Given the description of an element on the screen output the (x, y) to click on. 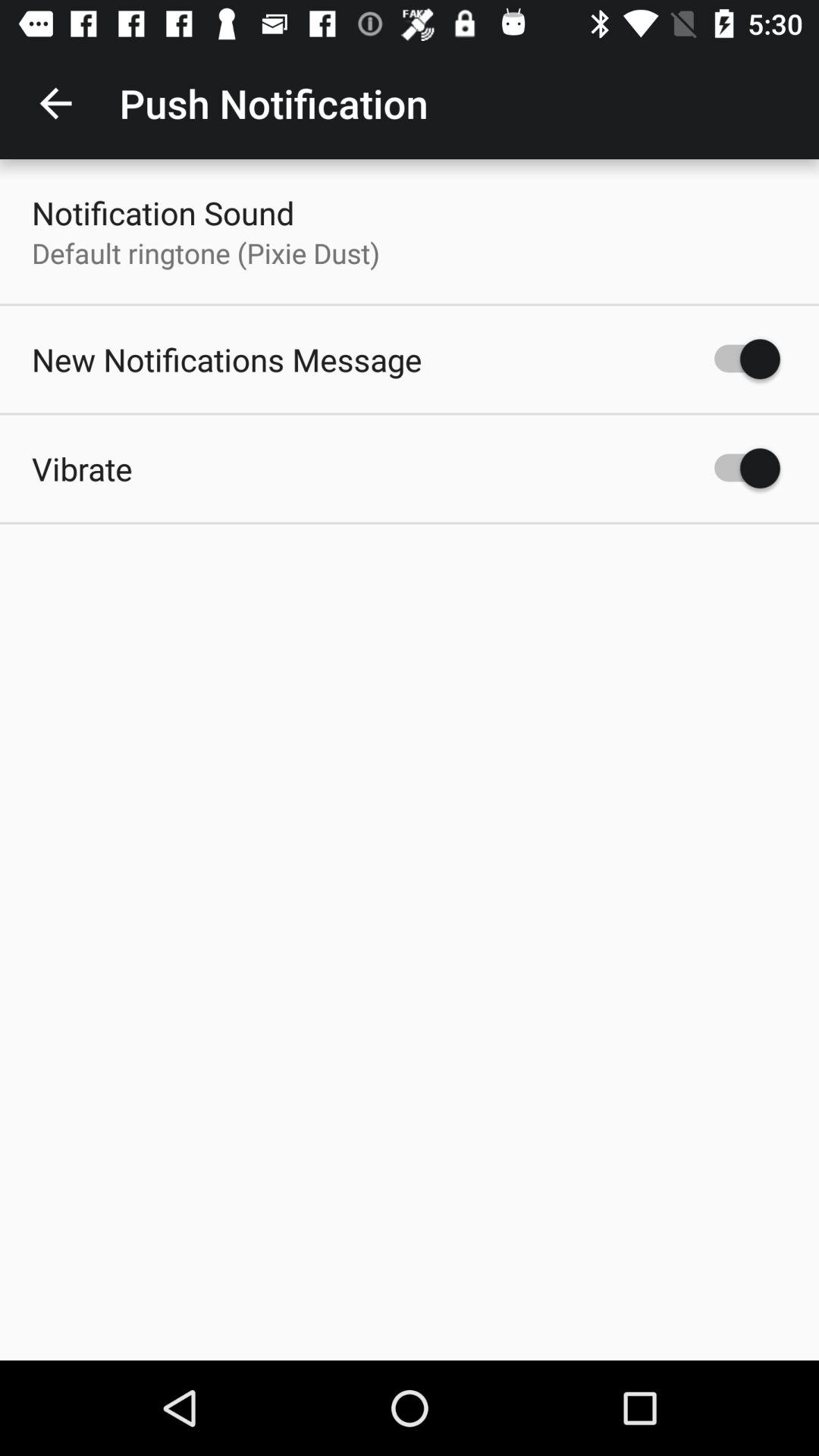
scroll until the default ringtone pixie icon (205, 252)
